Given the description of an element on the screen output the (x, y) to click on. 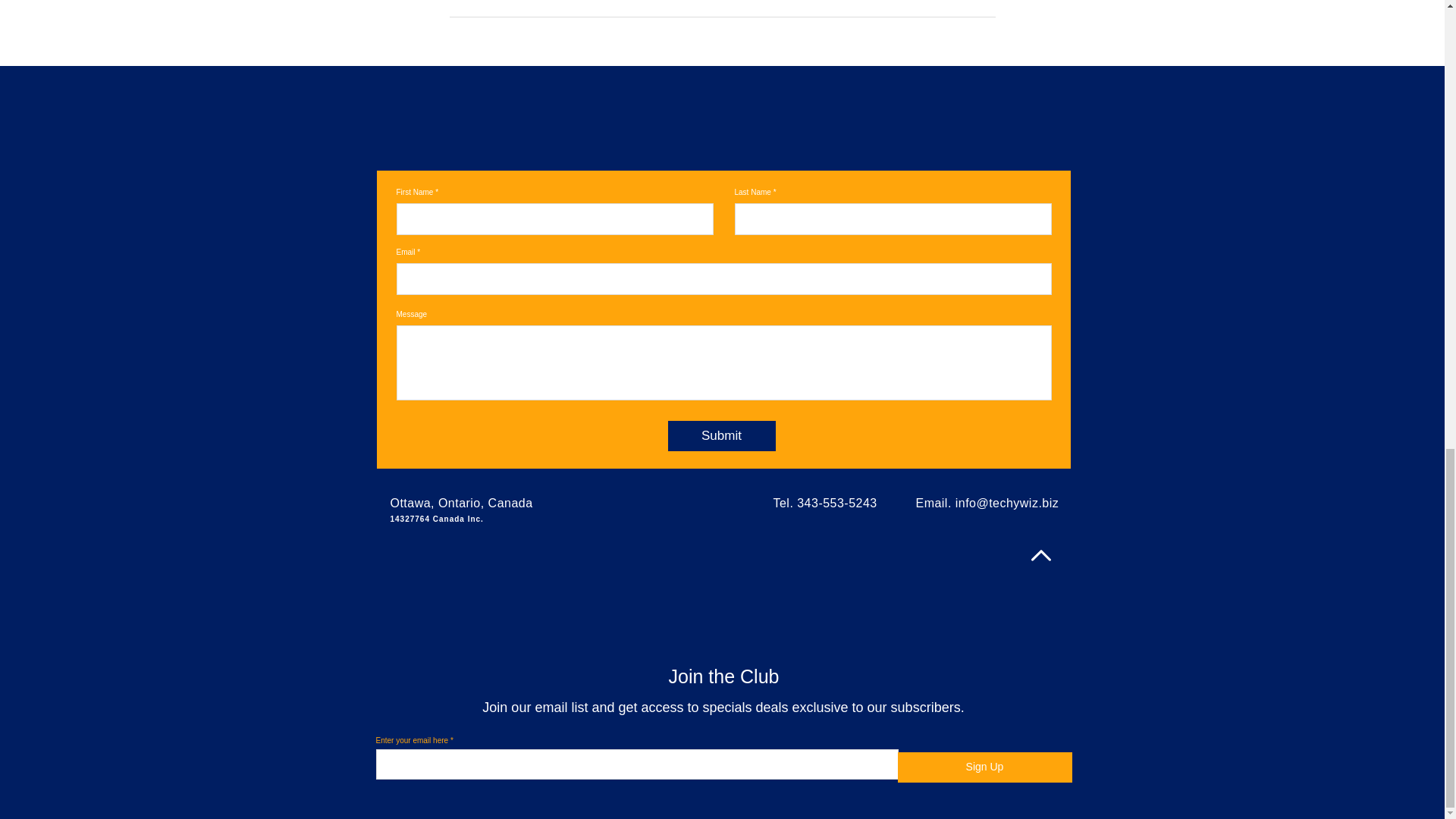
Submit (720, 435)
Sign Up (984, 767)
